Given the description of an element on the screen output the (x, y) to click on. 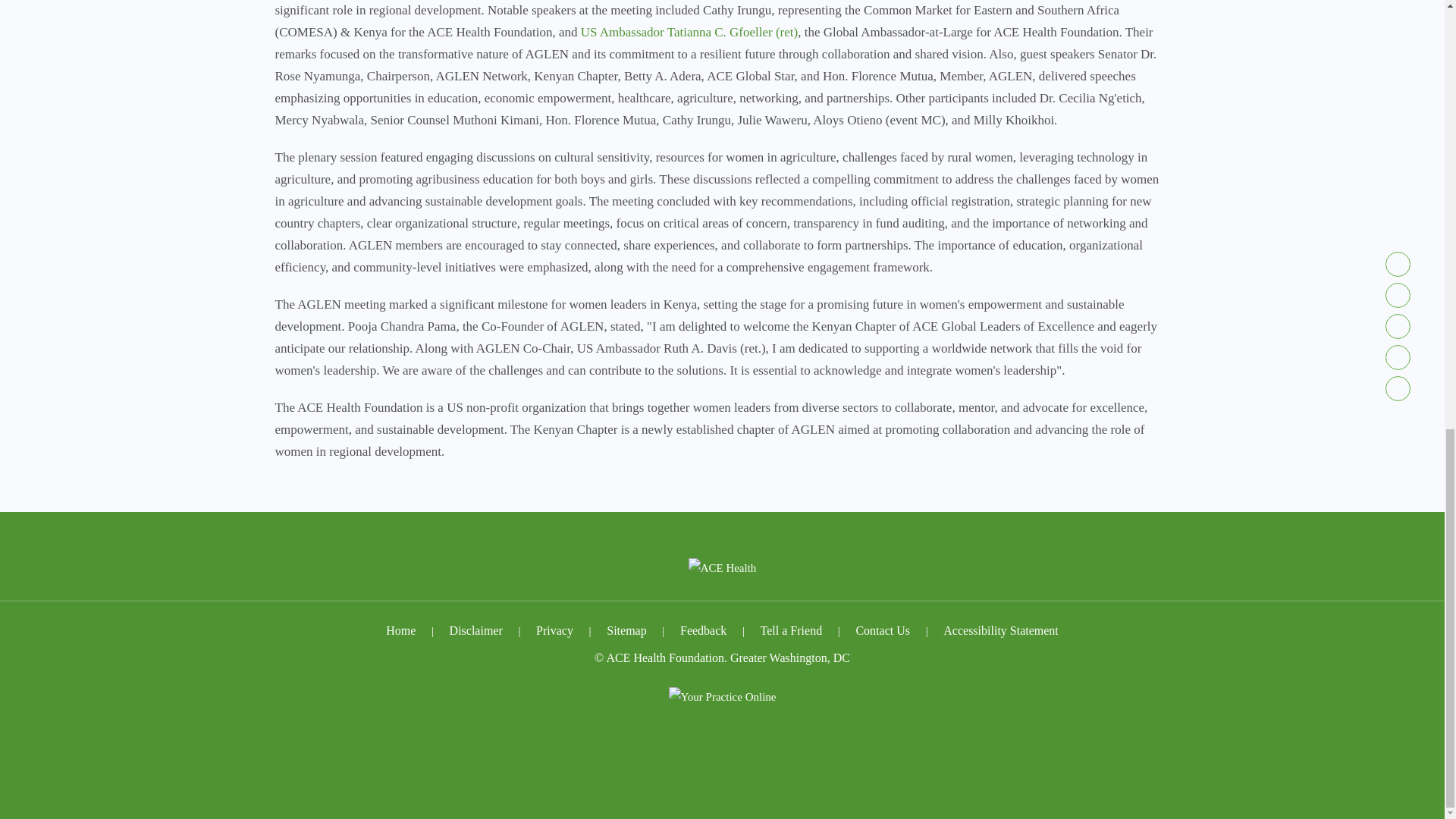
Disclaimer (475, 630)
Accessibility Statement (1000, 630)
Privacy (554, 630)
Home (400, 630)
Contact Us (882, 630)
ACE Health Foundation. Greater Washington, DC (727, 657)
Feedback (703, 630)
Sitemap (625, 630)
Tell a Friend (792, 630)
